Given the description of an element on the screen output the (x, y) to click on. 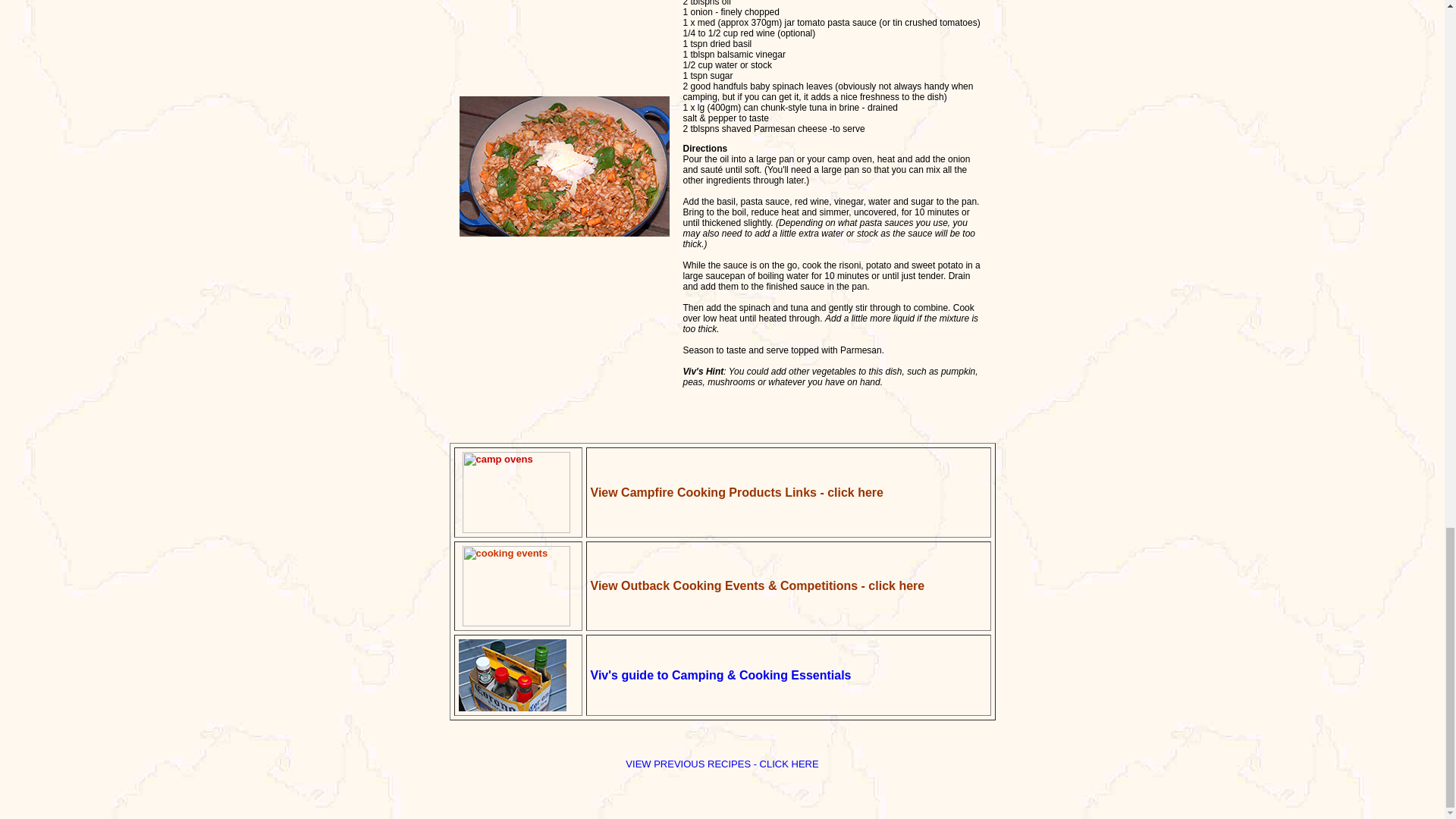
View Campfire Cooking Products Links - click here (735, 491)
VIEW PREVIOUS RECIPES - CLICK HERE (722, 763)
